Given the description of an element on the screen output the (x, y) to click on. 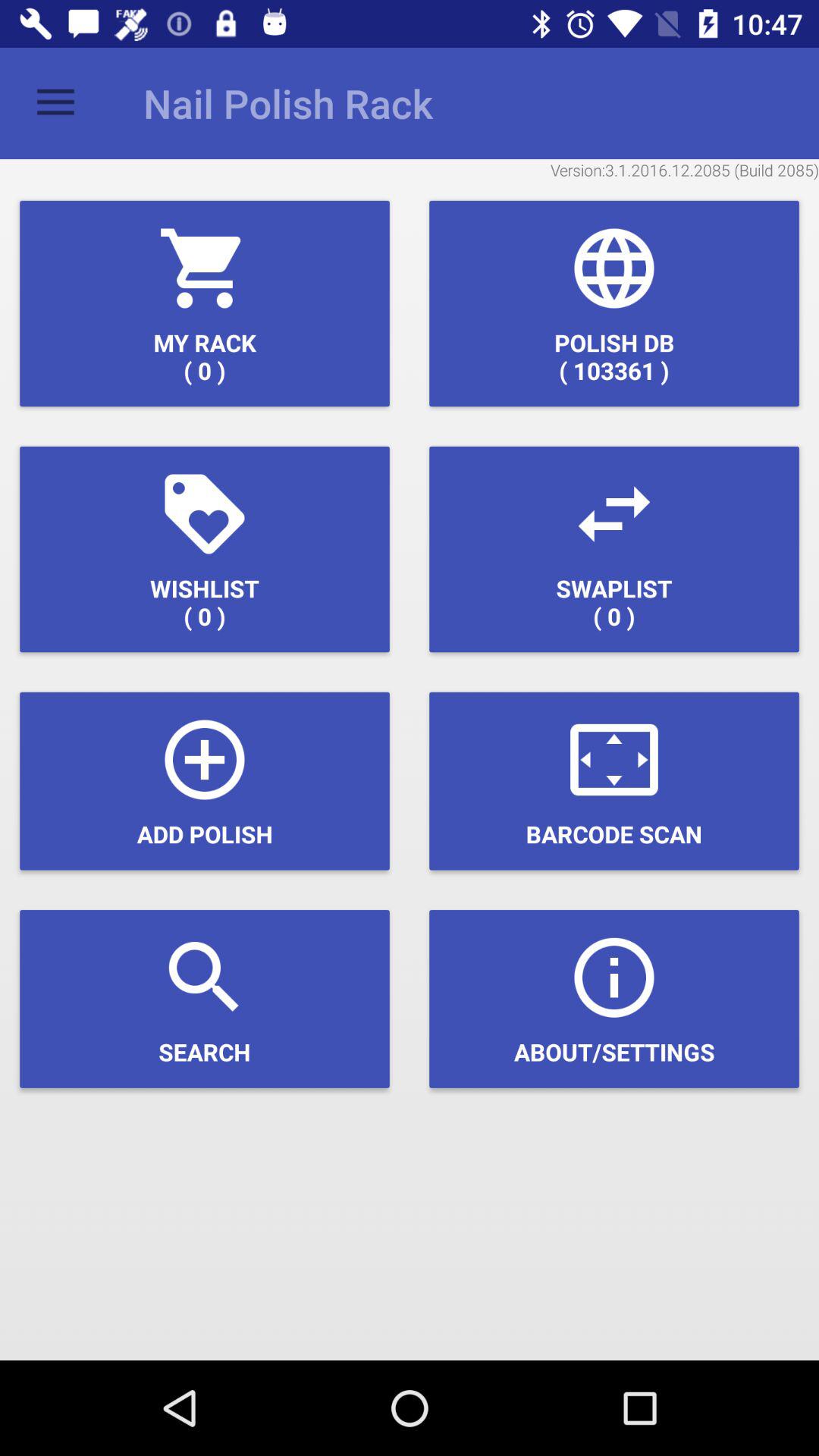
flip until the polish db
( 103361 ) item (614, 303)
